Given the description of an element on the screen output the (x, y) to click on. 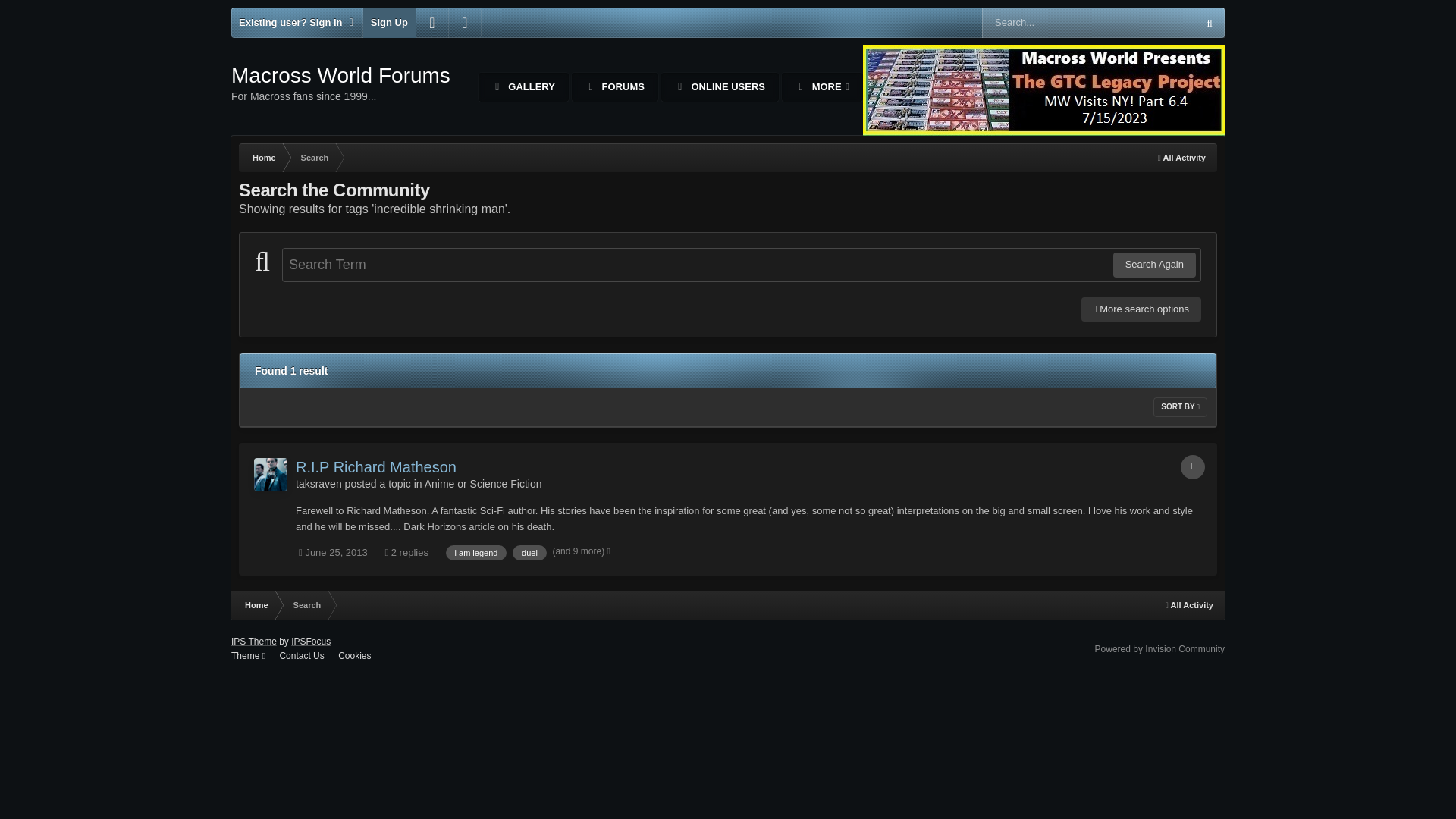
All Activity (1182, 157)
Home (262, 157)
Find other content tagged with 'duel' (529, 552)
Go to taksraven's profile (318, 483)
ONLINE USERS (719, 86)
Customizer (432, 22)
FORUMS (615, 86)
GALLERY (524, 86)
Search (313, 157)
Find other content tagged with 'i am legend' (475, 552)
